Given the description of an element on the screen output the (x, y) to click on. 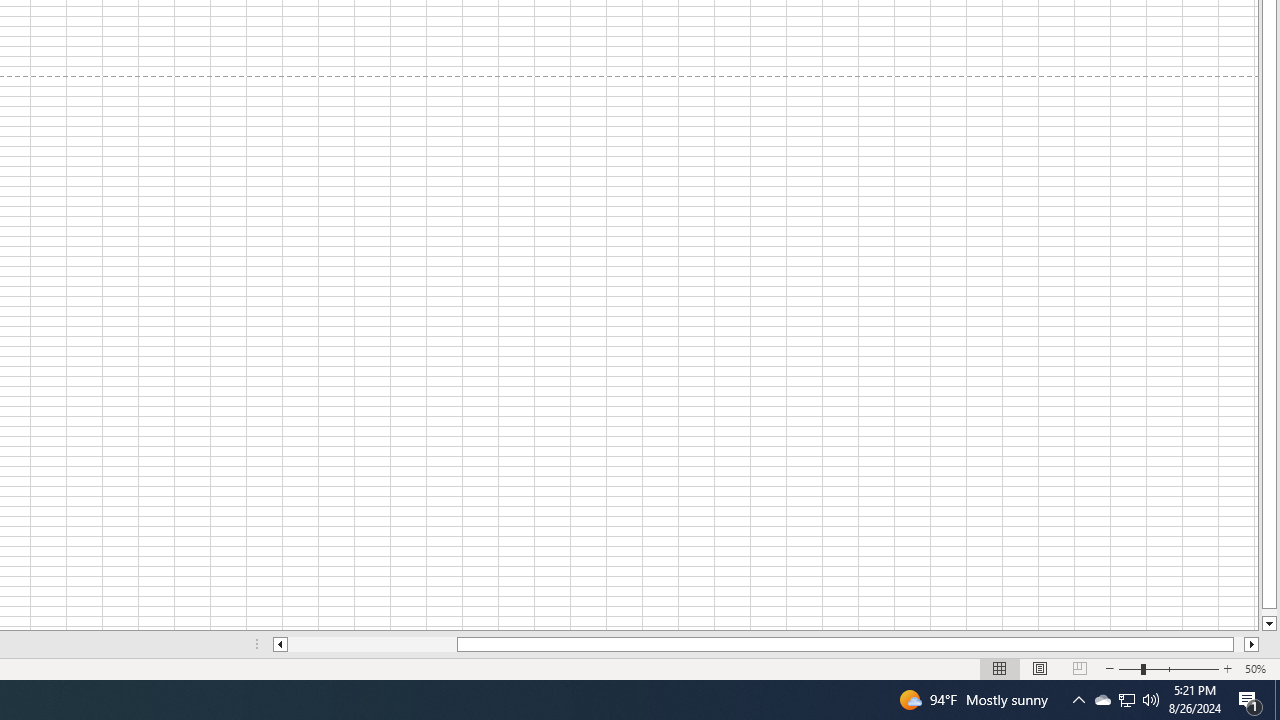
Page left (372, 644)
